Given the description of an element on the screen output the (x, y) to click on. 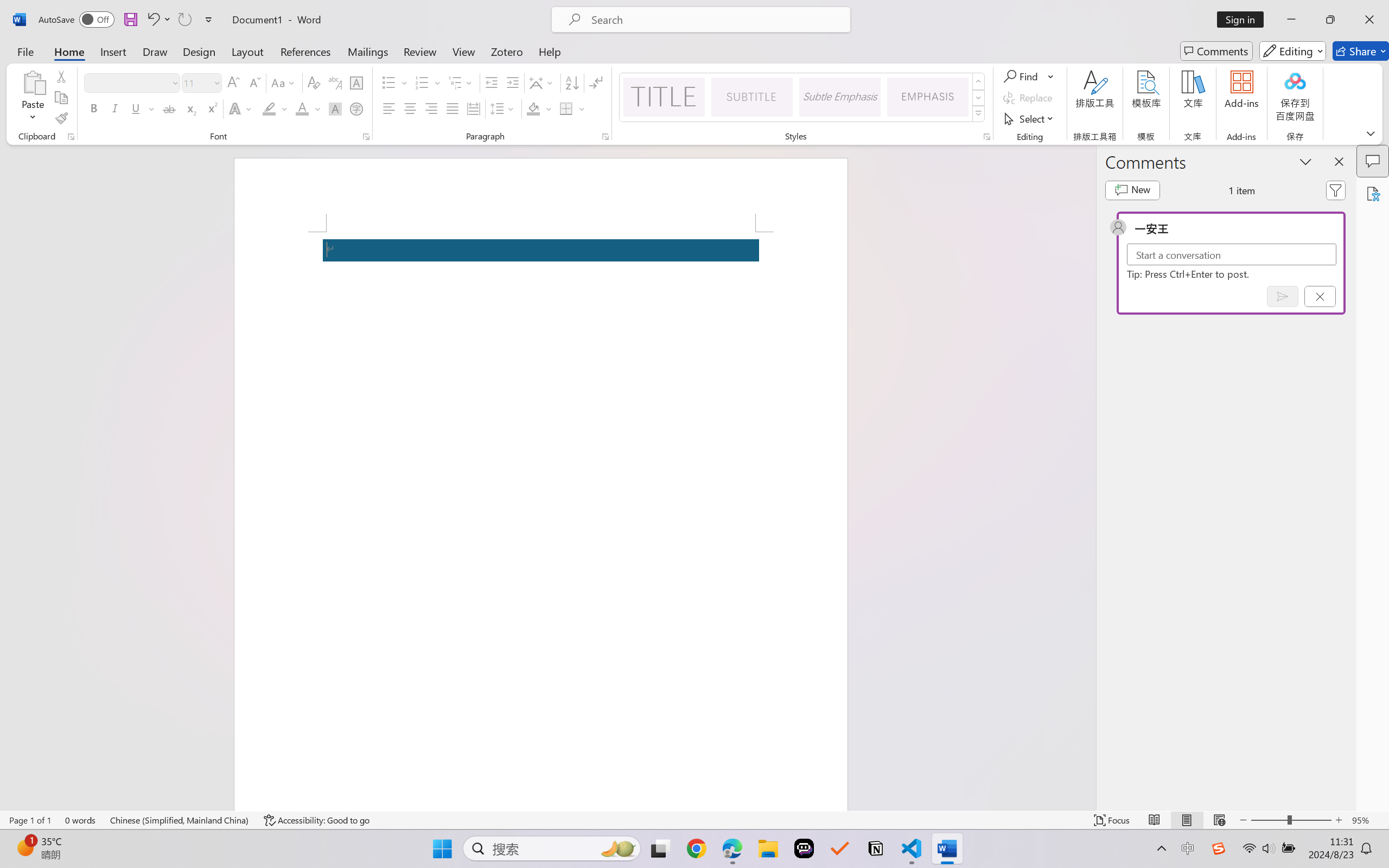
Sign in (1244, 19)
Post comment (Ctrl + Enter) (1282, 296)
AutomationID: QuickStylesGallery (802, 97)
Language Chinese (Simplified, Mainland China) (179, 819)
